Given the description of an element on the screen output the (x, y) to click on. 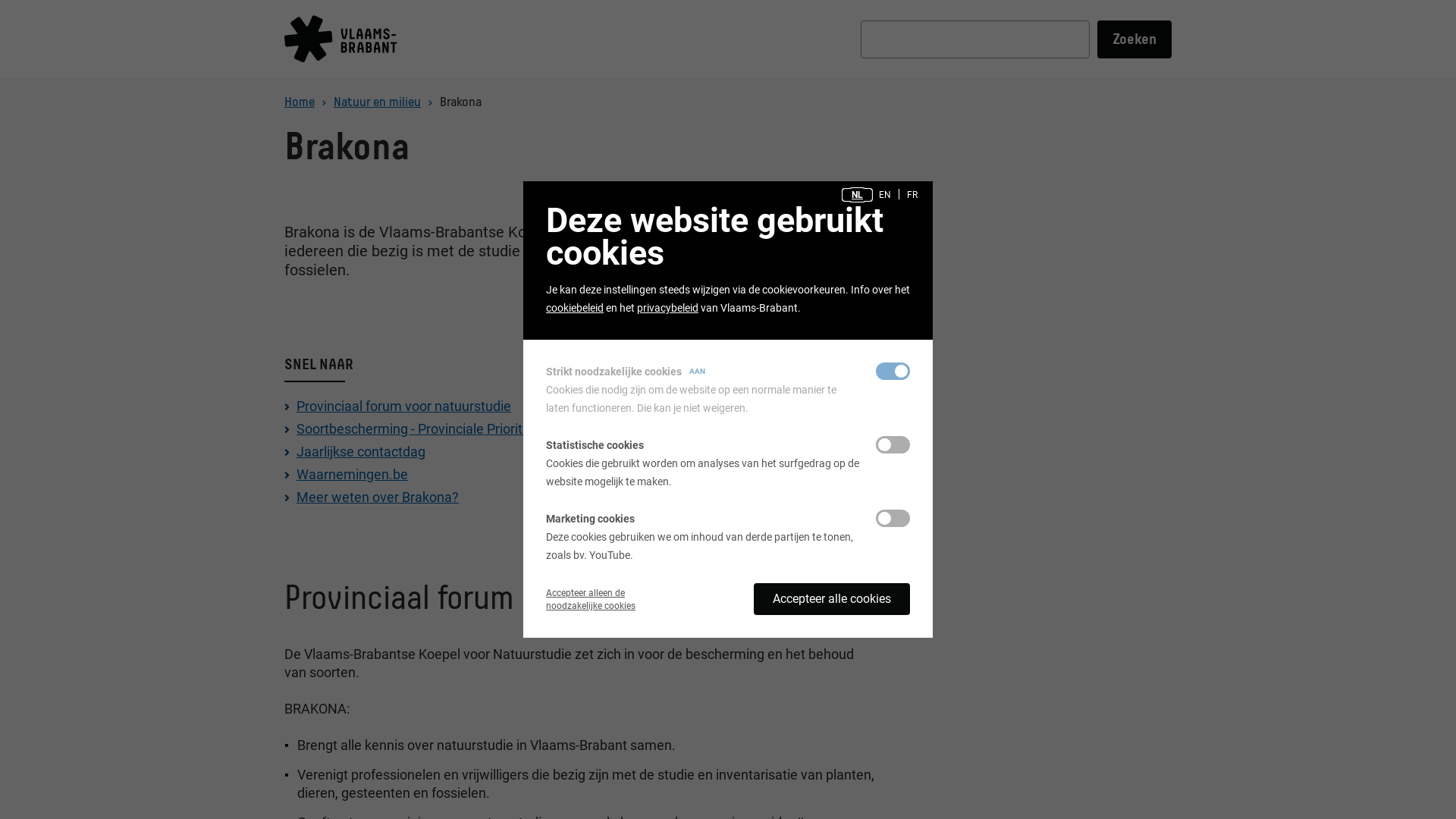
privacybeleid Element type: text (667, 307)
cookiebeleid Element type: text (574, 307)
Home Element type: text (299, 102)
Accepteer alle cookies Element type: text (831, 599)
Accepteer alleen de noodzakelijke cookies Element type: text (590, 599)
FR Element type: text (912, 194)
Waarnemingen.be Element type: text (351, 474)
NL Element type: text (857, 194)
Zoeken Element type: text (1134, 38)
Natuur en milieu Element type: text (376, 102)
Meer weten over Brakona? Element type: text (377, 497)
Jaarlijkse contactdag Element type: text (360, 451)
EN Element type: text (884, 194)
Provinciaal forum voor natuurstudie Element type: text (403, 406)
Soortbescherming - Provinciale Prioritaire Soorten (PPS) Element type: text (464, 428)
